Given the description of an element on the screen output the (x, y) to click on. 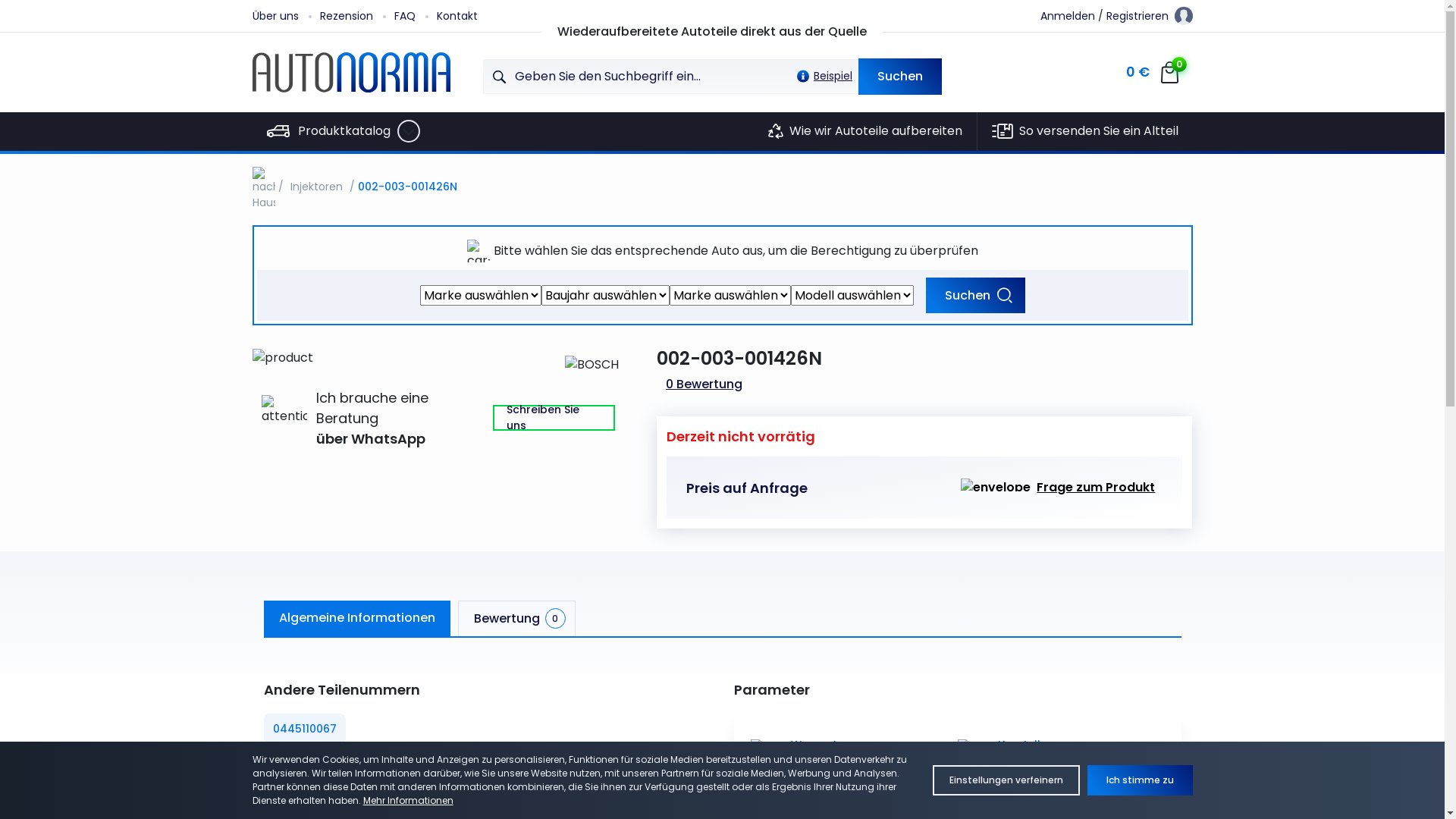
Registrieren Element type: text (1137, 15)
Produktkatalog Element type: text (346, 131)
So versenden Sie ein Altteil Element type: text (1084, 131)
Suchen Element type: text (899, 75)
Bewertung
0 Element type: text (516, 618)
FAQ Element type: text (415, 15)
Einstellungen verfeinern Element type: text (1005, 780)
Schreiben Sie uns Element type: text (553, 417)
Rezension Element type: text (357, 15)
Kontakt Element type: text (467, 15)
Frage zum Produkt Element type: text (1057, 487)
Wie wir Autoteile aufbereiten Element type: text (864, 131)
Algemeine Informationen Element type: text (356, 618)
Injektoren Element type: text (316, 186)
Mehr Informationen Element type: text (407, 799)
Suchen Element type: text (974, 295)
Ich stimme zu Element type: text (1139, 780)
0 Bewertung Element type: text (703, 384)
Beispiel Element type: text (820, 76)
Anmelden Element type: text (1067, 15)
